Given the description of an element on the screen output the (x, y) to click on. 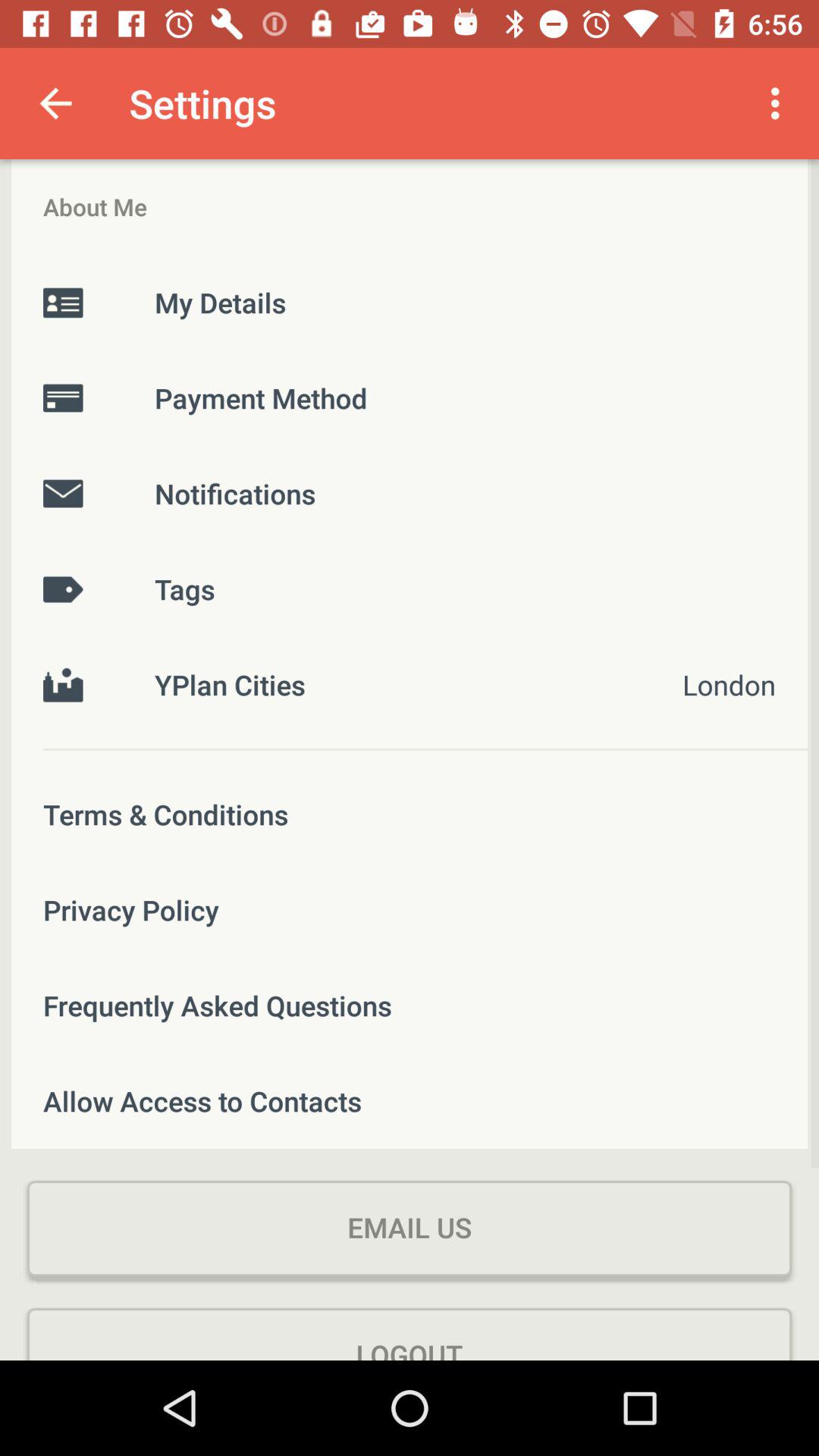
swipe until the privacy policy icon (409, 909)
